Given the description of an element on the screen output the (x, y) to click on. 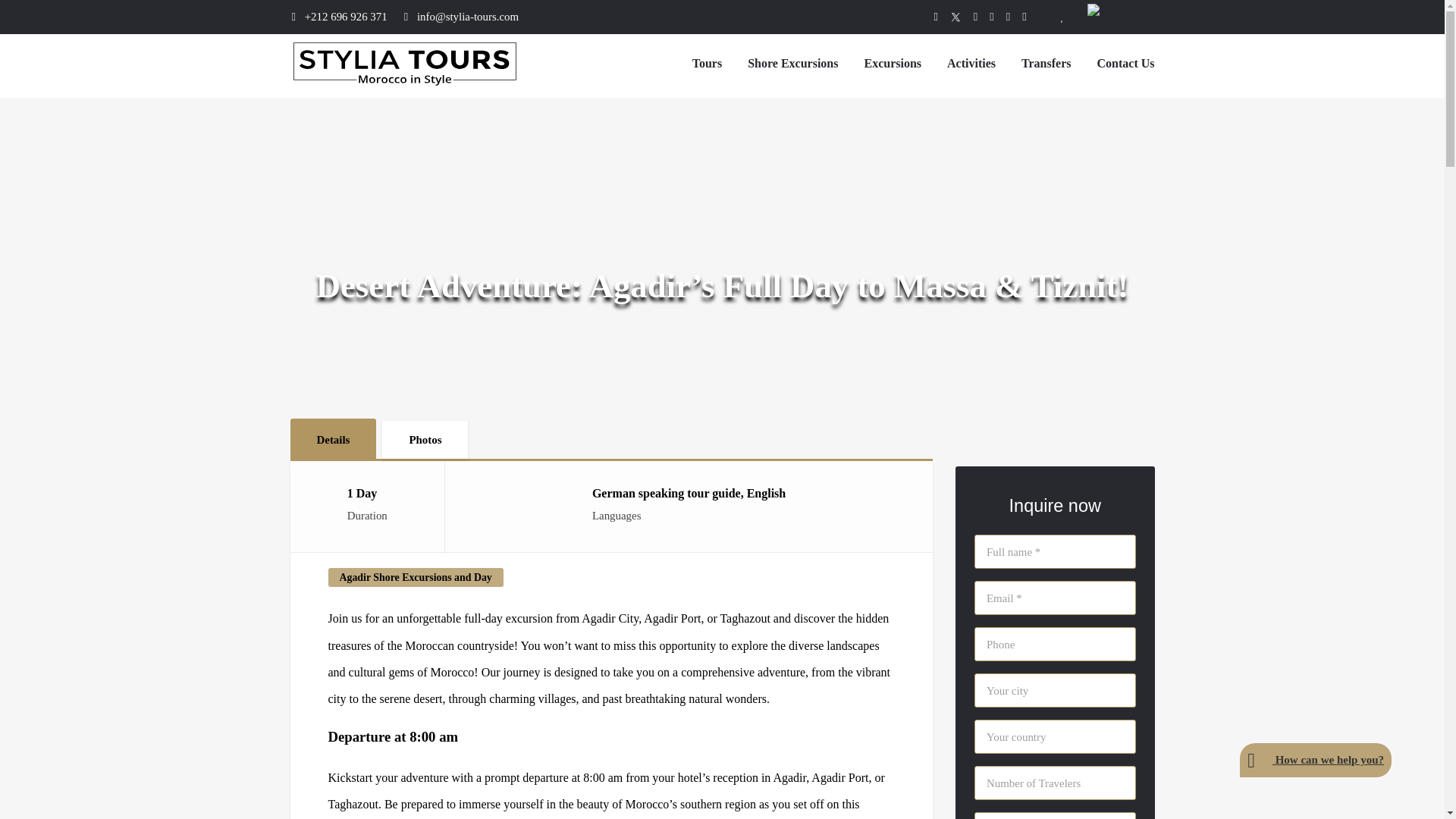
Excursions (892, 62)
Photos (424, 439)
Stylia Tours Morocco in Style, Tailored for You (402, 61)
Stylia Tours Morocco in Style, Tailored for You (402, 83)
Details (332, 438)
Contact Us (1125, 62)
Agadir Shore Excursions and Day (414, 577)
Transfers (1046, 62)
Activities (971, 62)
Shore Excursions (793, 62)
Tours (707, 62)
